Given the description of an element on the screen output the (x, y) to click on. 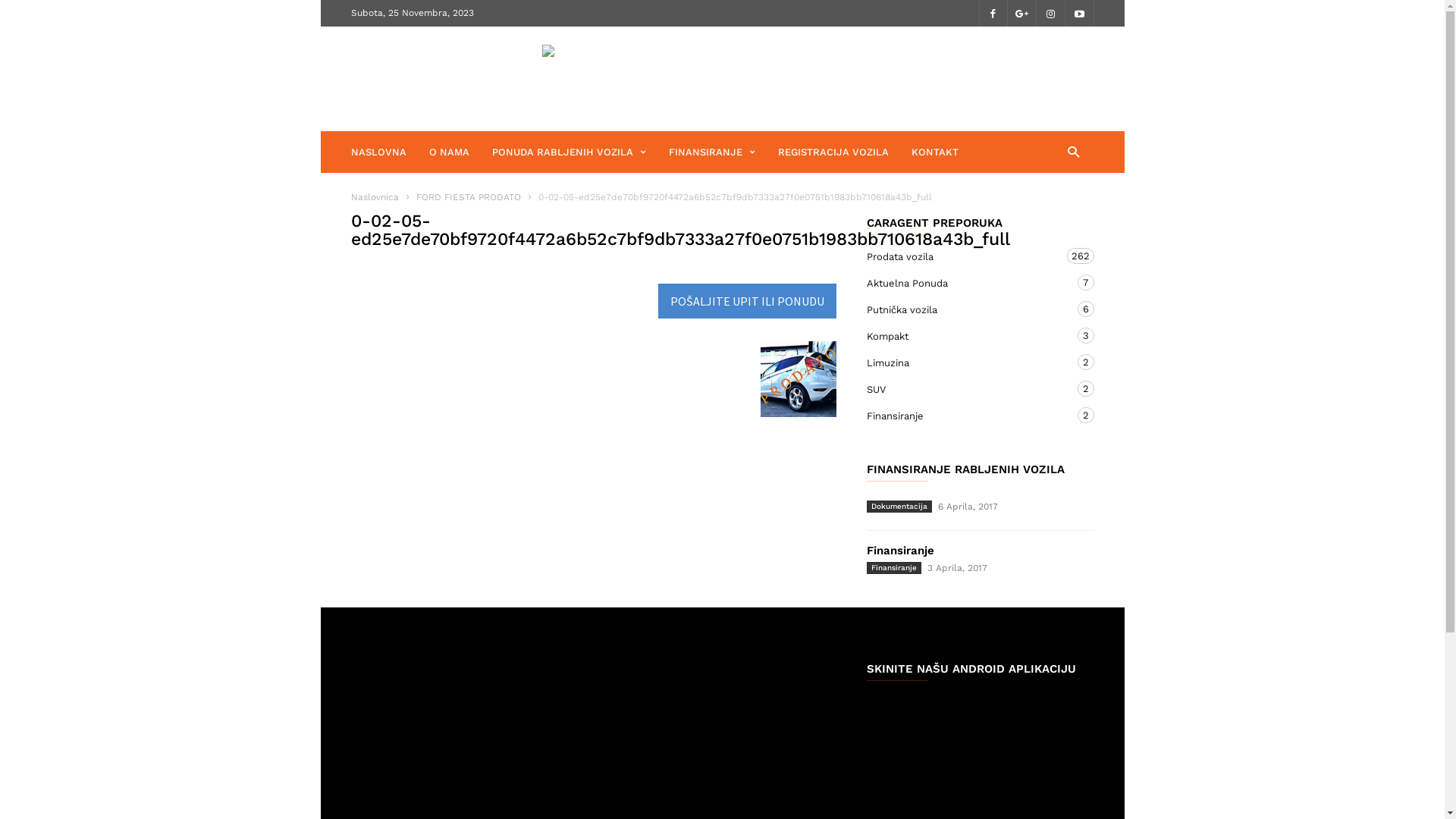
Limuzina
2 Element type: text (964, 362)
Aktuelna Ponuda
7 Element type: text (964, 282)
Naslovnica Element type: text (374, 196)
Finansiranje Element type: text (899, 550)
Instagram Element type: hover (1049, 13)
Prodata vozila
262 Element type: text (964, 256)
Finansiranje
2 Element type: text (964, 415)
SUV
2 Element type: text (964, 389)
Google+ Element type: hover (1021, 13)
KONTAKT Element type: text (934, 151)
FINANSIRANJE Element type: text (723, 151)
NASLOVNA Element type: text (389, 151)
FINANSIRANJE RABLJENIH VOZILA Element type: text (964, 469)
FORD FIESTA PRODATO Element type: text (469, 196)
Dokumentacija Element type: text (898, 506)
Facebook Element type: hover (992, 13)
Youtube Element type: hover (1078, 13)
REGISTRACIJA VOZILA Element type: text (844, 151)
Kompakt
3 Element type: text (964, 336)
PONUDA RABLJENIH VOZILA Element type: text (579, 151)
Finansiranje Element type: text (893, 567)
O NAMA Element type: text (460, 151)
